Given the description of an element on the screen output the (x, y) to click on. 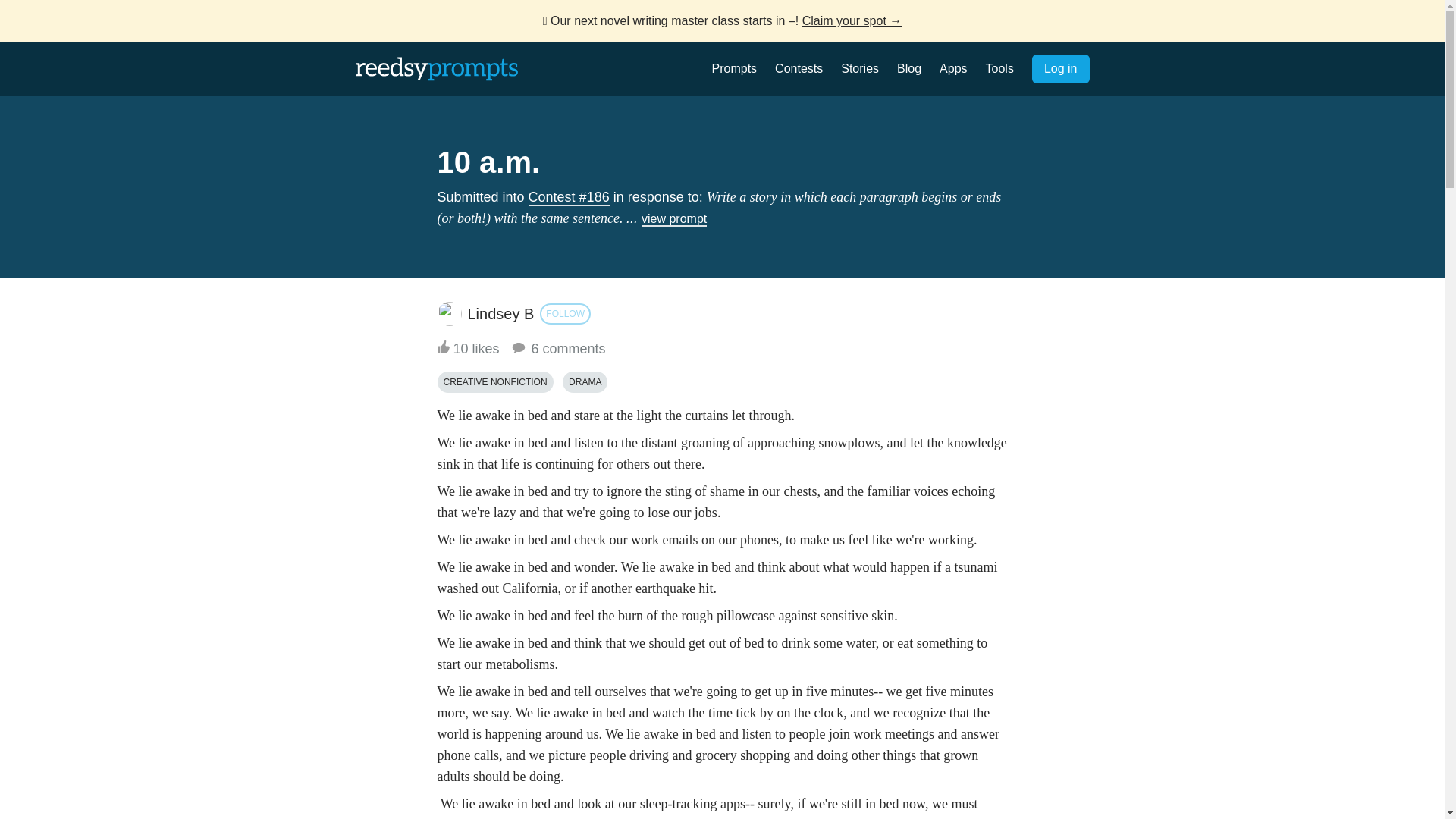
Stories (860, 68)
Contests (798, 68)
Apps (952, 68)
Tools (999, 68)
Log in (1060, 68)
Blog (908, 68)
6 comments (557, 348)
Prompts (734, 68)
